Given the description of an element on the screen output the (x, y) to click on. 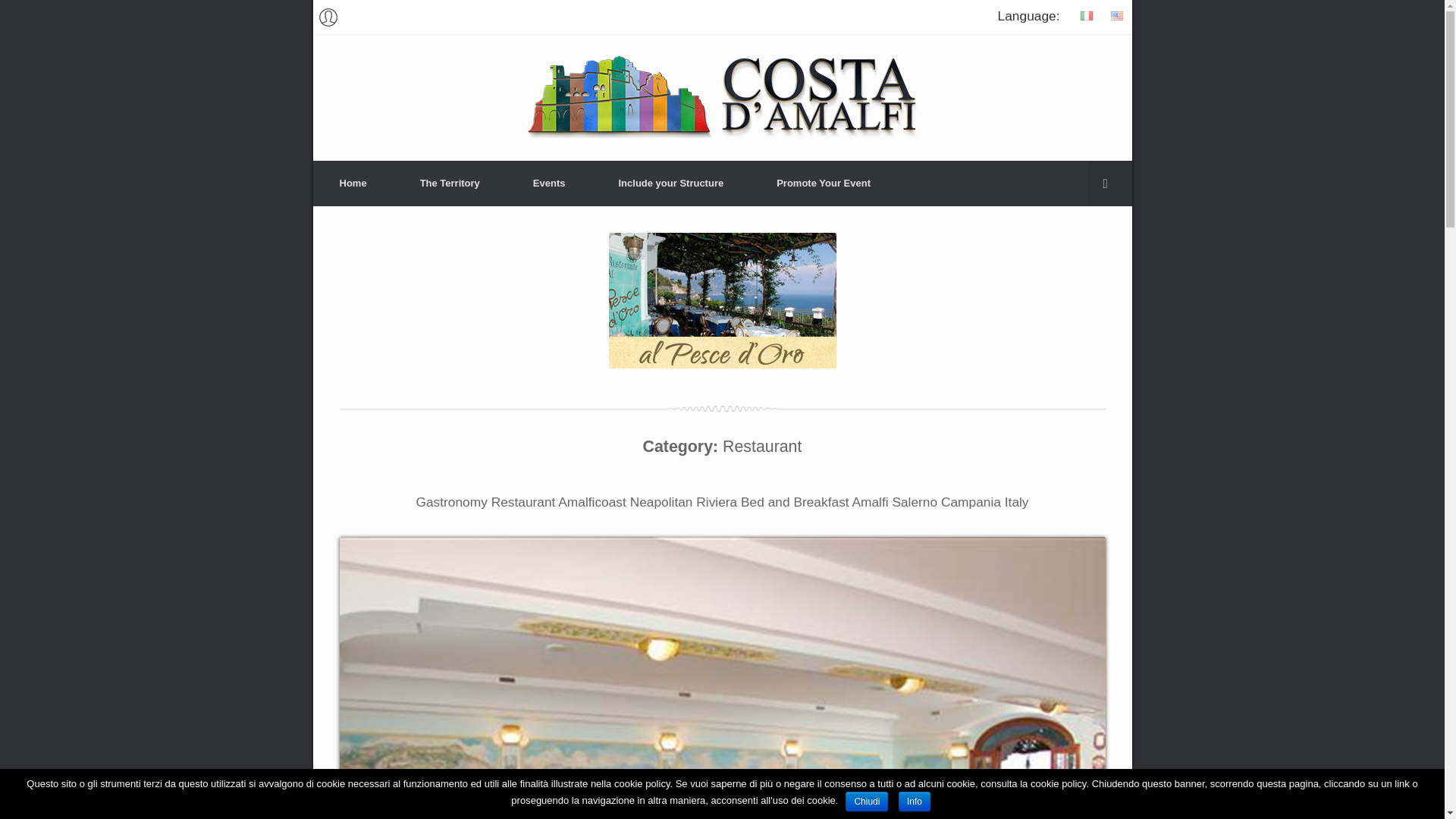
Italiano (1085, 15)
Promote Your Event (822, 183)
Include your Structure (670, 183)
Inglese (1115, 15)
The Territory (449, 183)
Amalfi Coast (722, 96)
Events (549, 183)
Home (353, 183)
Login (327, 17)
